Given the description of an element on the screen output the (x, y) to click on. 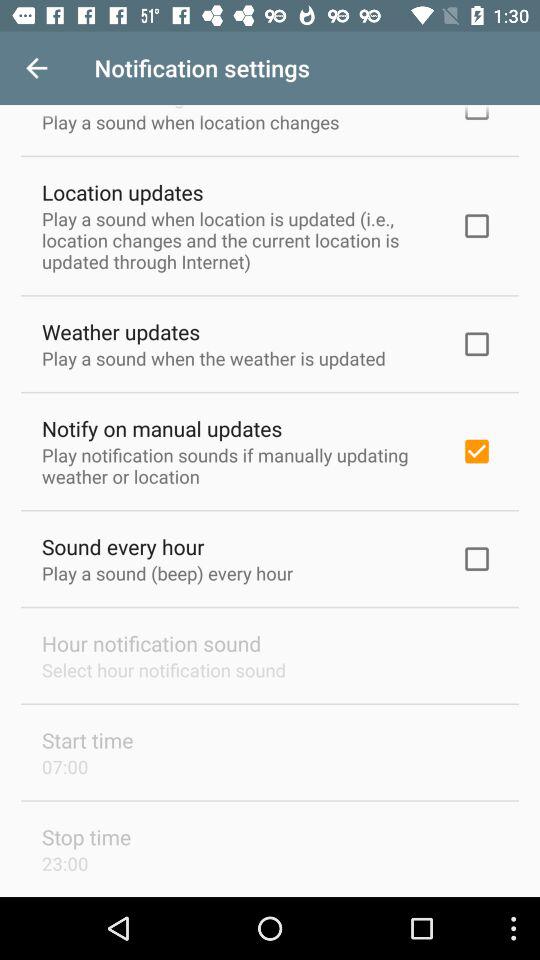
choose icon above the play notification sounds icon (162, 428)
